Given the description of an element on the screen output the (x, y) to click on. 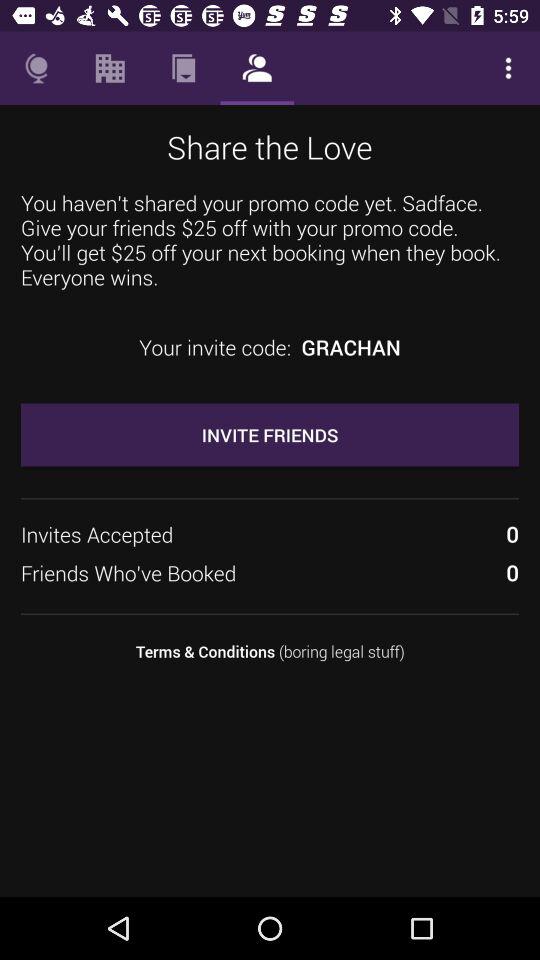
select grachan (350, 347)
